Given the description of an element on the screen output the (x, y) to click on. 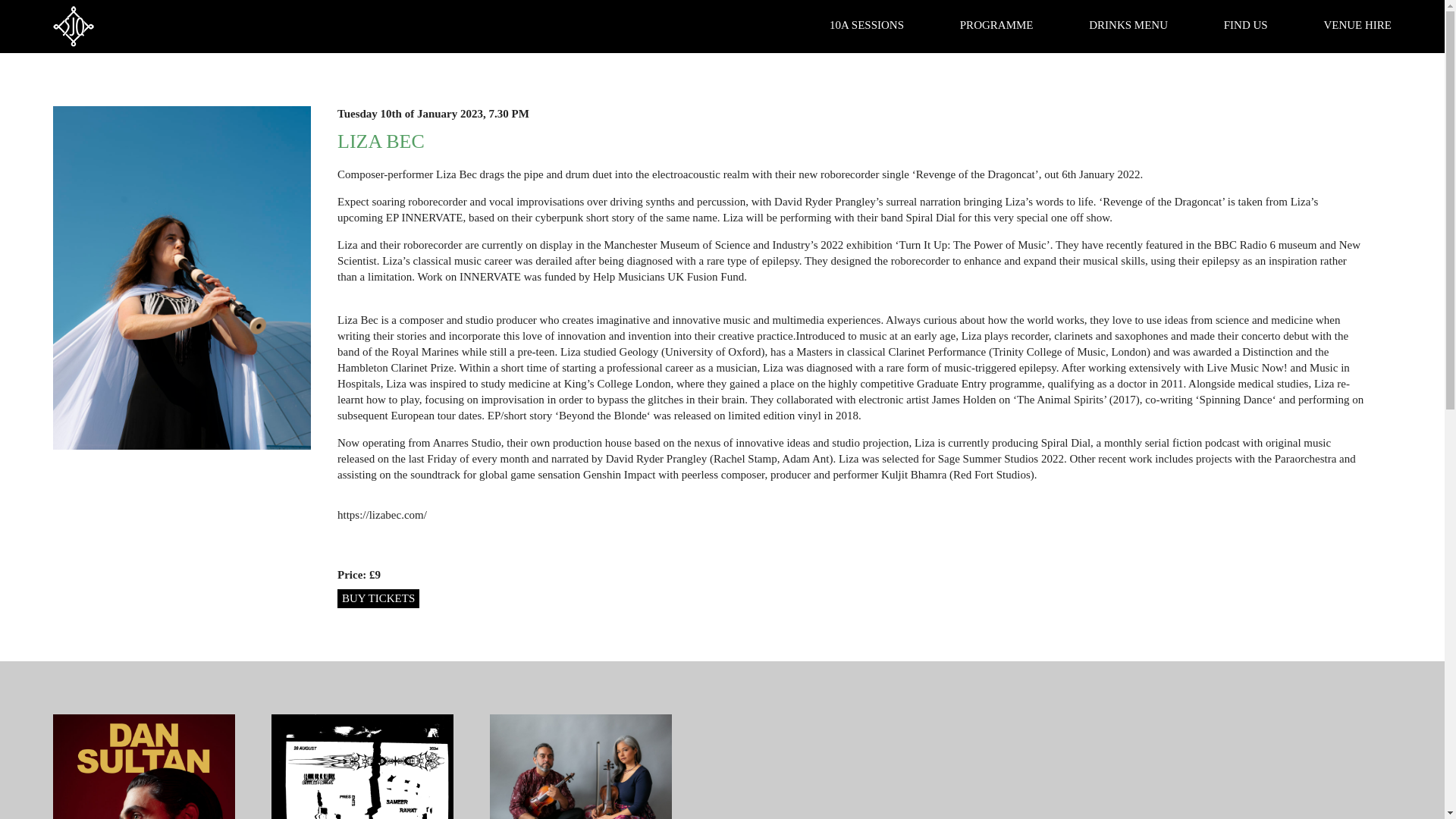
BUY TICKETS (378, 598)
SJQ (73, 25)
FIND US (1246, 24)
PROGRAMME (996, 24)
10A SESSIONS (866, 24)
VENUE HIRE (1357, 24)
DRINKS MENU (1128, 24)
